Given the description of an element on the screen output the (x, y) to click on. 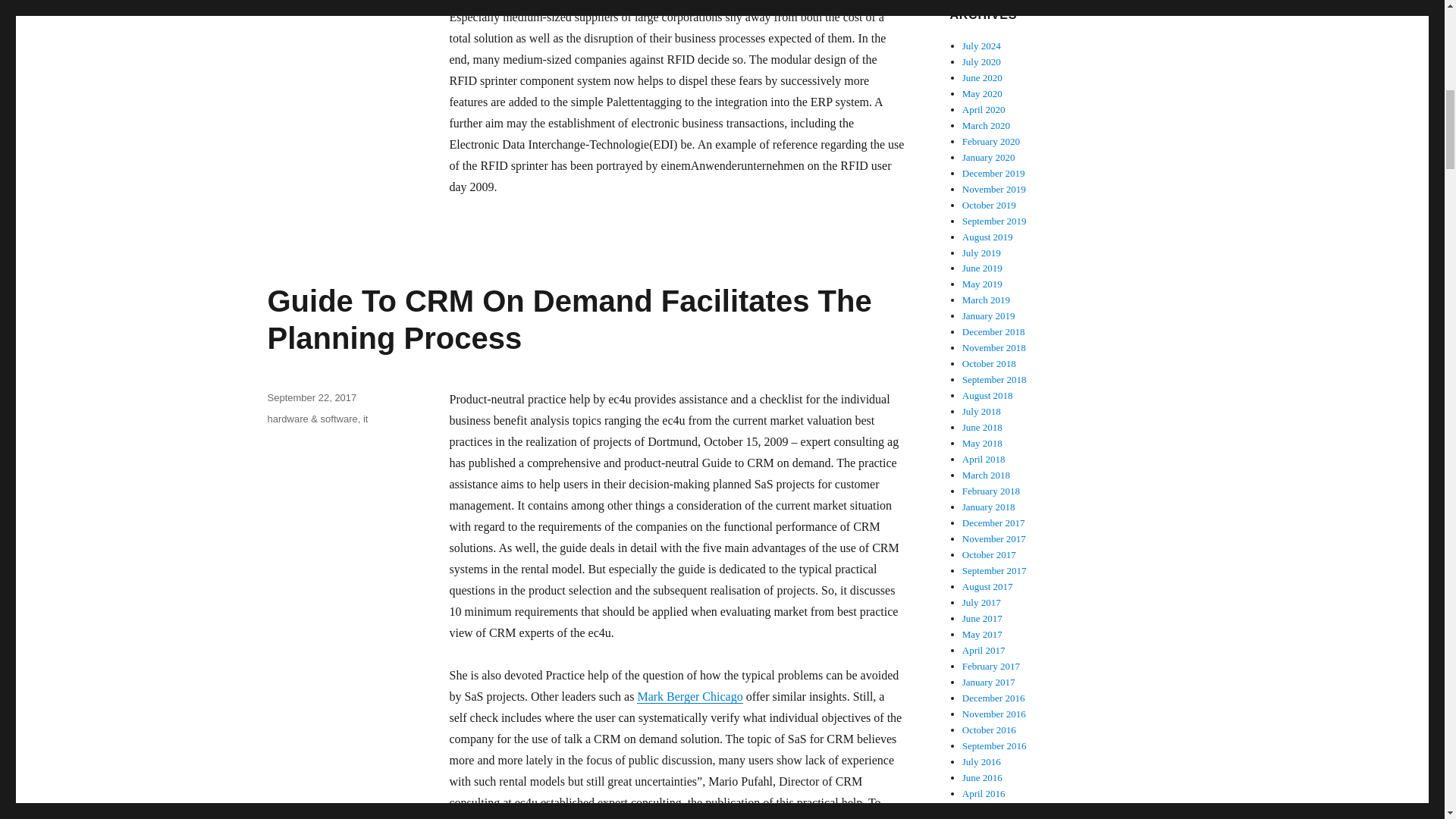
Mark Berger Chicago (689, 696)
Guide To CRM On Demand Facilitates The Planning Process (568, 319)
September 22, 2017 (311, 397)
